Given the description of an element on the screen output the (x, y) to click on. 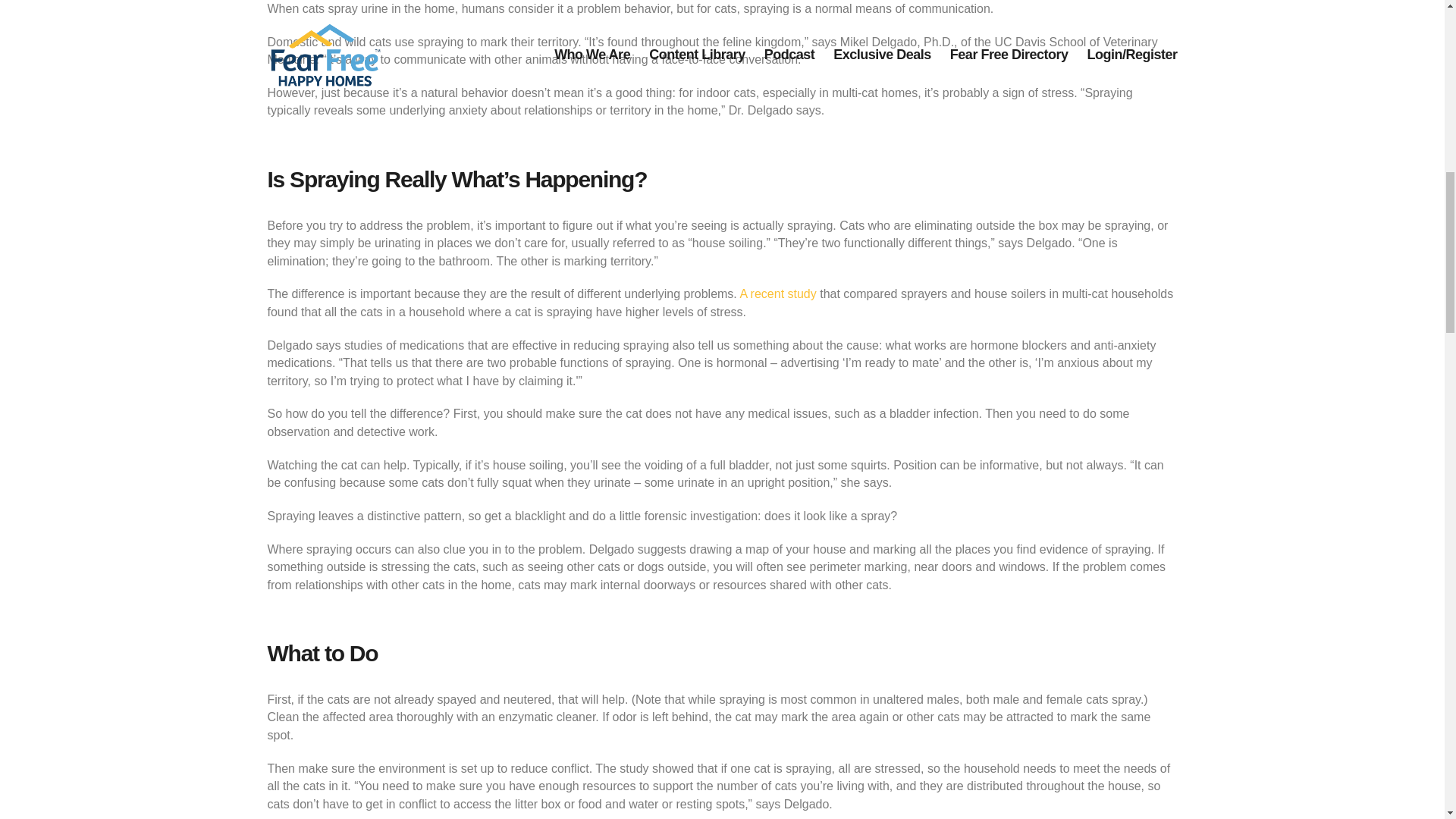
A recent study (777, 293)
